Given the description of an element on the screen output the (x, y) to click on. 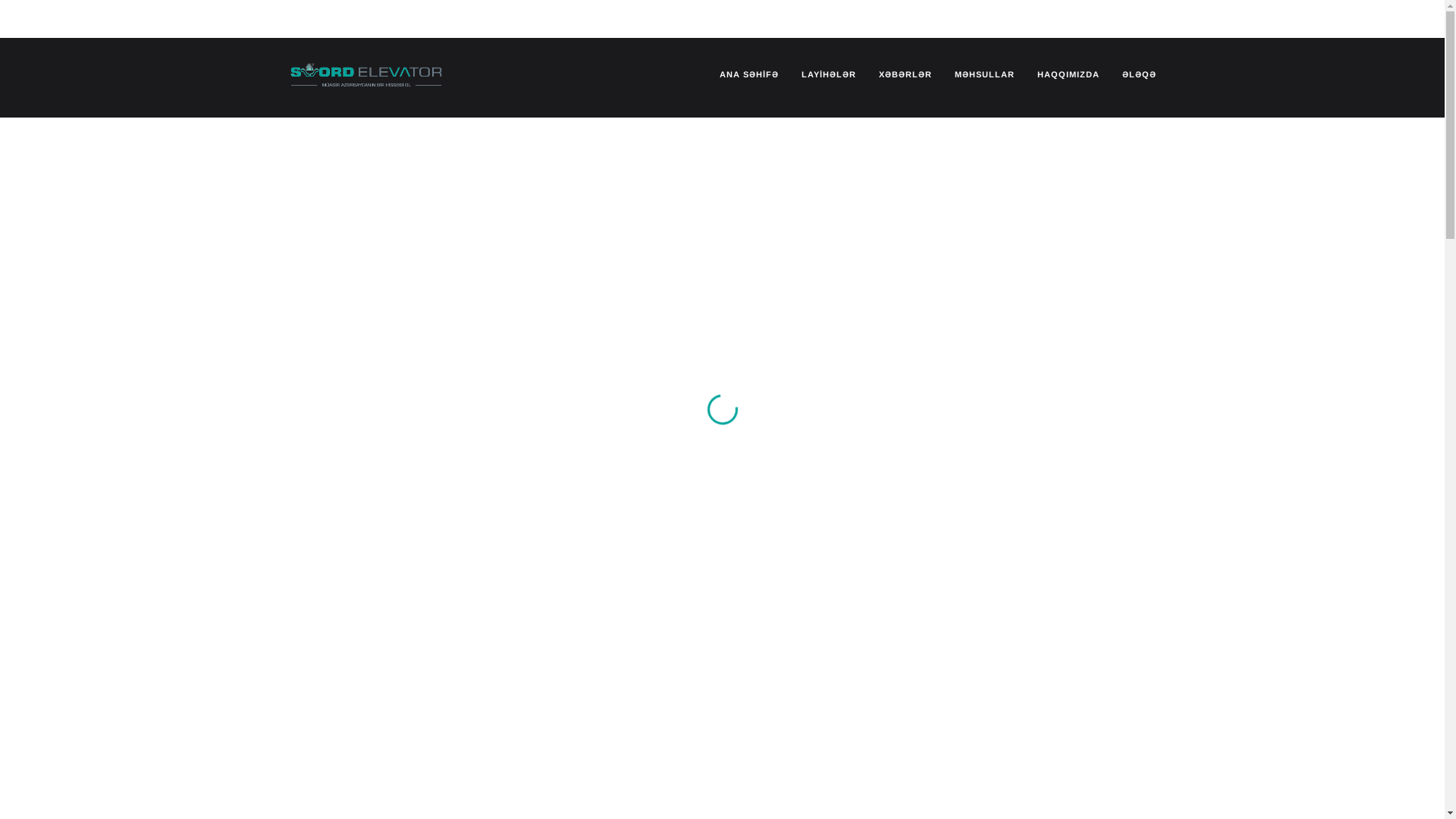
AZ Element type: text (298, 16)
ENG Element type: text (323, 16)
HAQQIMIZDA Element type: text (1067, 73)
